Given the description of an element on the screen output the (x, y) to click on. 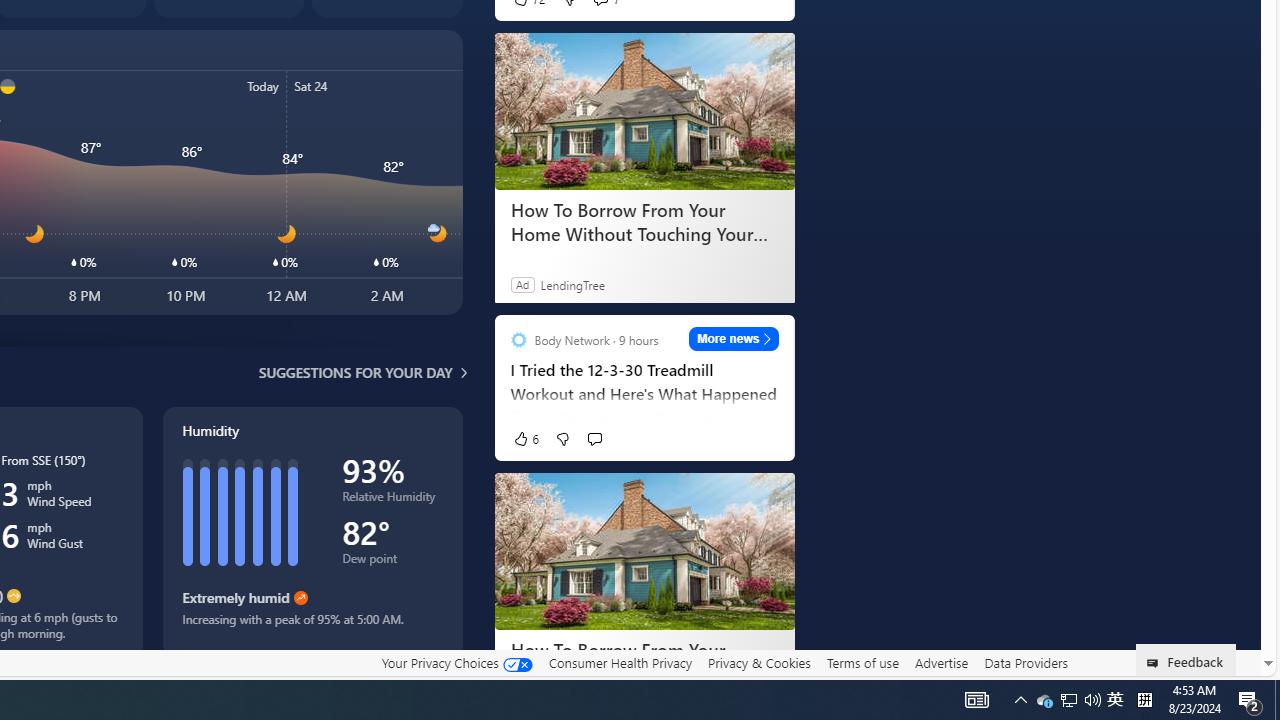
Relative Humidity (391, 500)
Class: feedback_link_icon-DS-EntryPoint1-1 (1156, 663)
Dew point (391, 562)
